Given the description of an element on the screen output the (x, y) to click on. 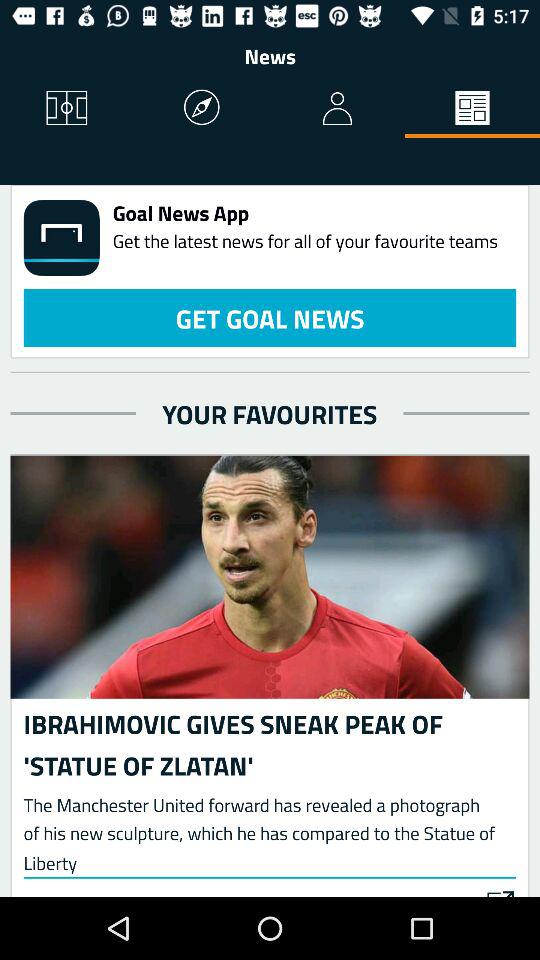
select the icon to the right of the news icon (472, 108)
